Given the description of an element on the screen output the (x, y) to click on. 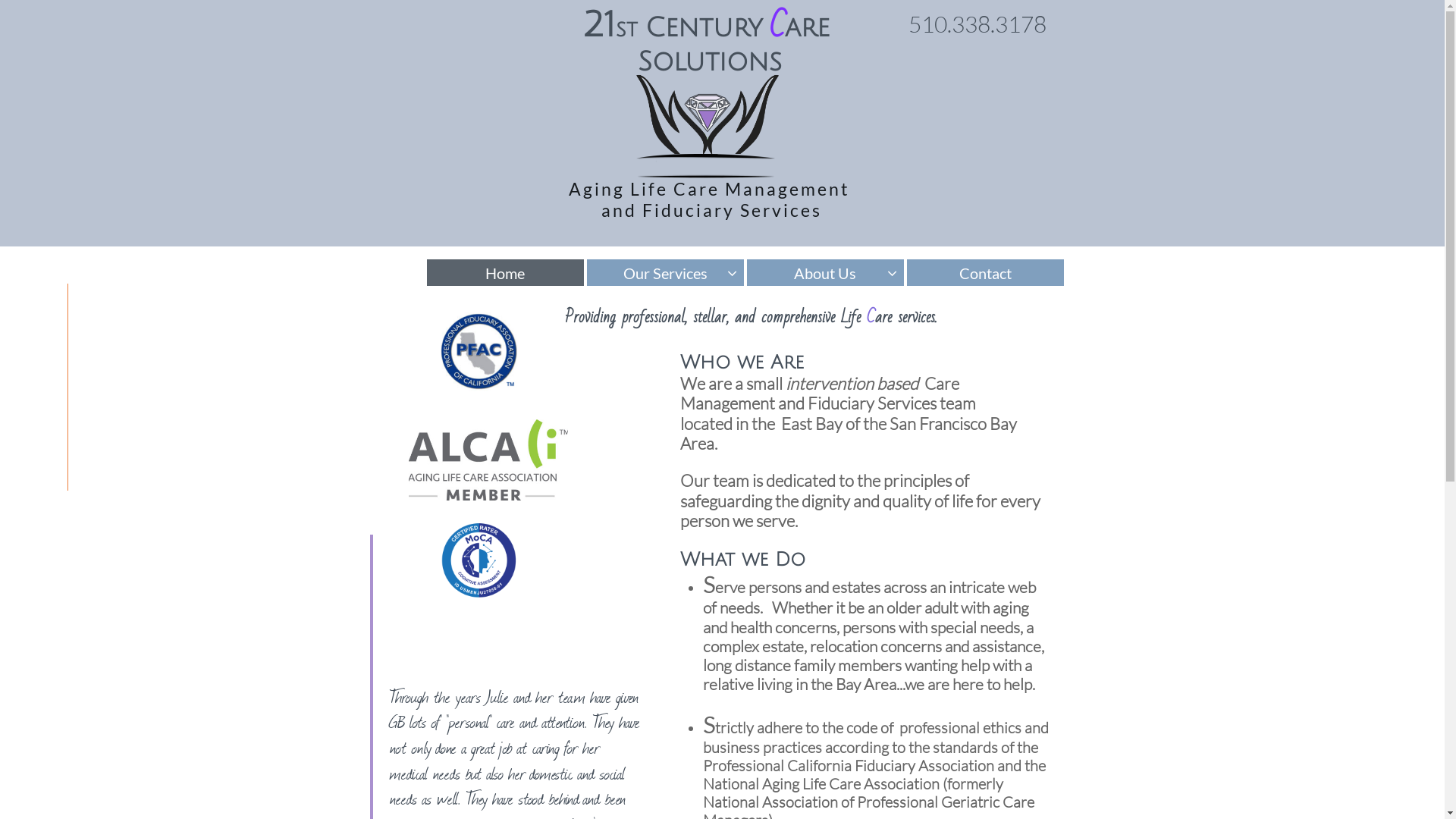
Home Element type: text (504, 272)
About Us Element type: text (824, 272)
Contact Element type: text (985, 272)
Our Services Element type: text (665, 272)
